Given the description of an element on the screen output the (x, y) to click on. 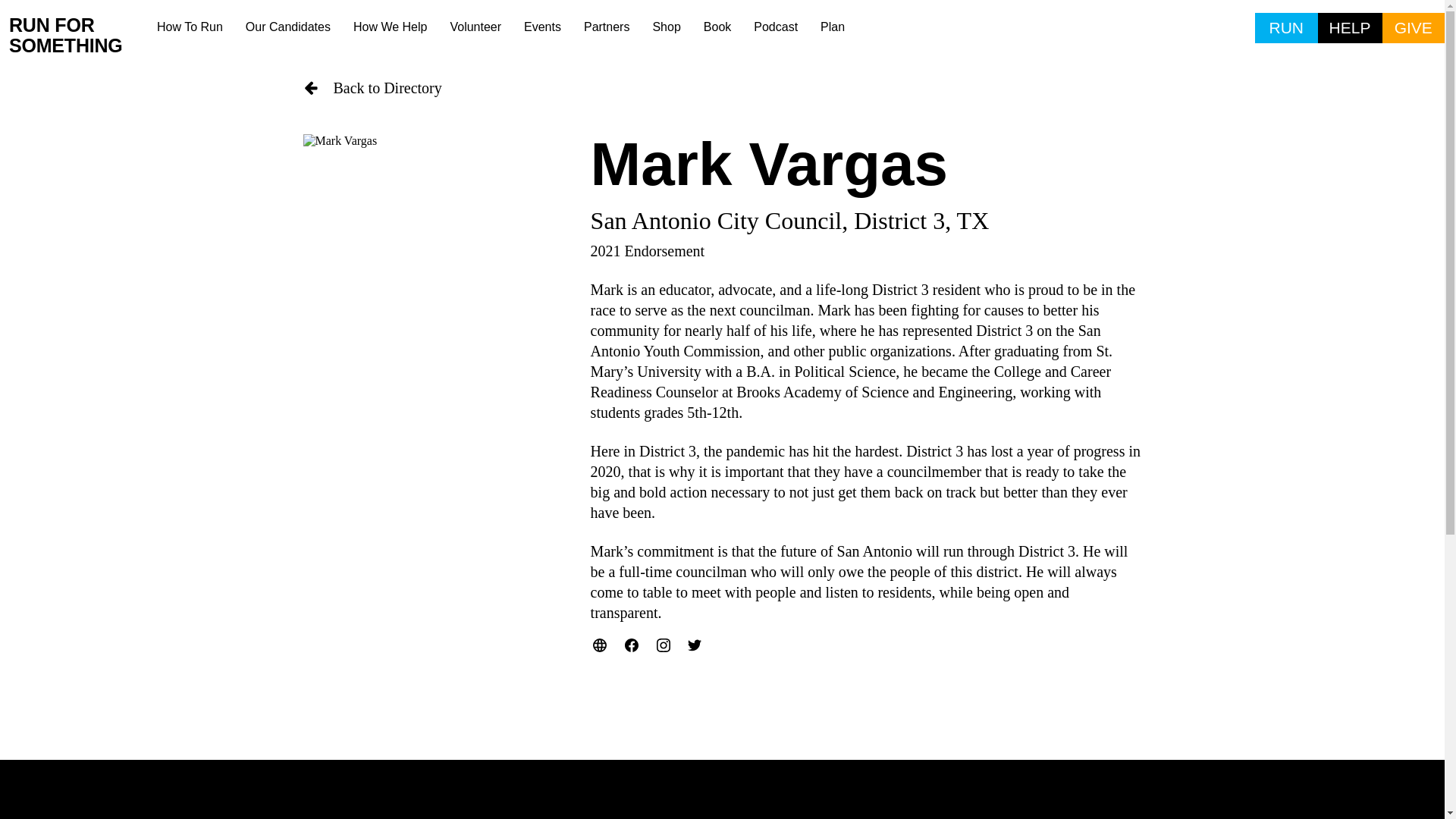
RUN FOR SOMETHING (76, 35)
Book (717, 27)
How We Help (390, 27)
Events (542, 27)
Partners (606, 27)
Podcast (775, 27)
Shop (665, 27)
Plan (832, 27)
Back to Directory (721, 87)
RUN (1286, 28)
How To Run (189, 27)
HELP (1349, 28)
Volunteer (475, 27)
Our Candidates (288, 27)
